Given the description of an element on the screen output the (x, y) to click on. 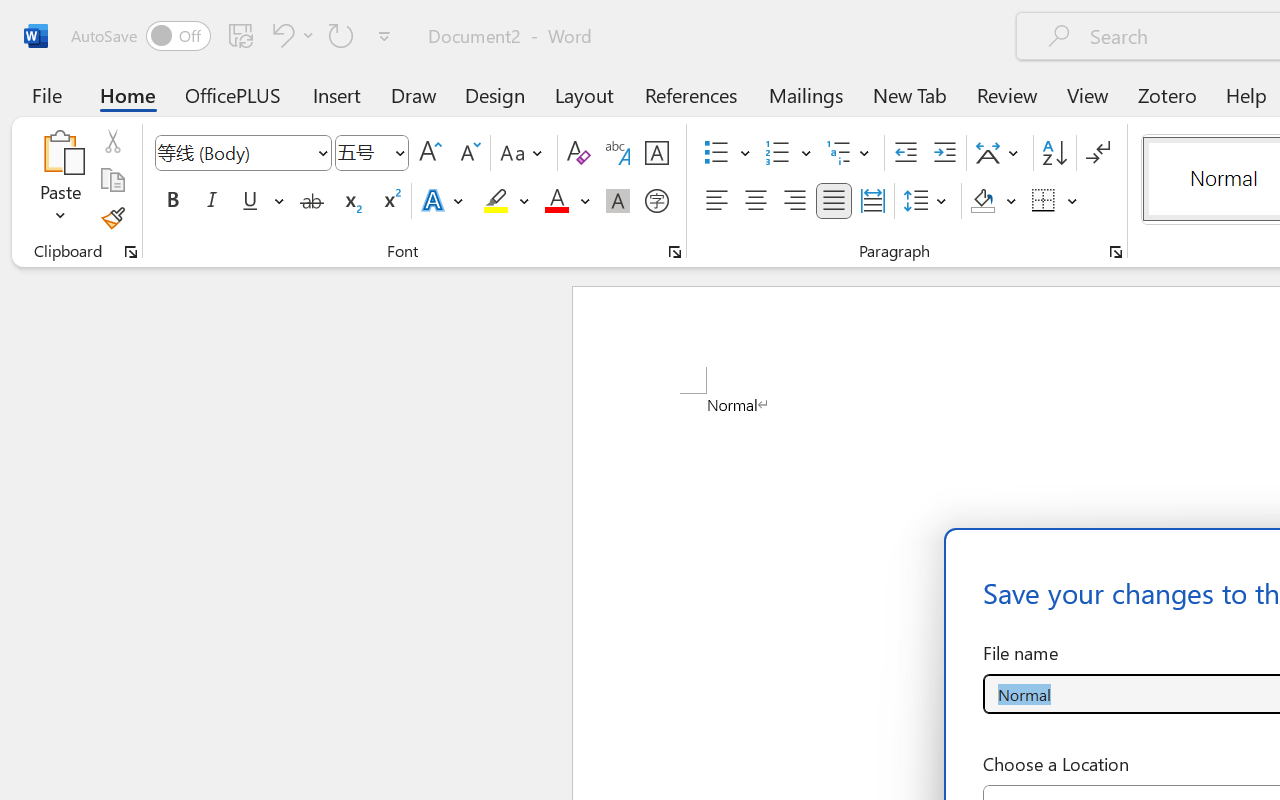
Clear Formatting (578, 153)
New Tab (909, 94)
Insert (337, 94)
Undo Apply Quick Style (280, 35)
Design (495, 94)
Cut (112, 141)
Font Color (567, 201)
OfficePLUS (233, 94)
Text Highlight Color (506, 201)
Character Shading (618, 201)
Bullets (727, 153)
Font Size (362, 152)
Shading RGB(0, 0, 0) (982, 201)
Grow Font (430, 153)
Underline (261, 201)
